Given the description of an element on the screen output the (x, y) to click on. 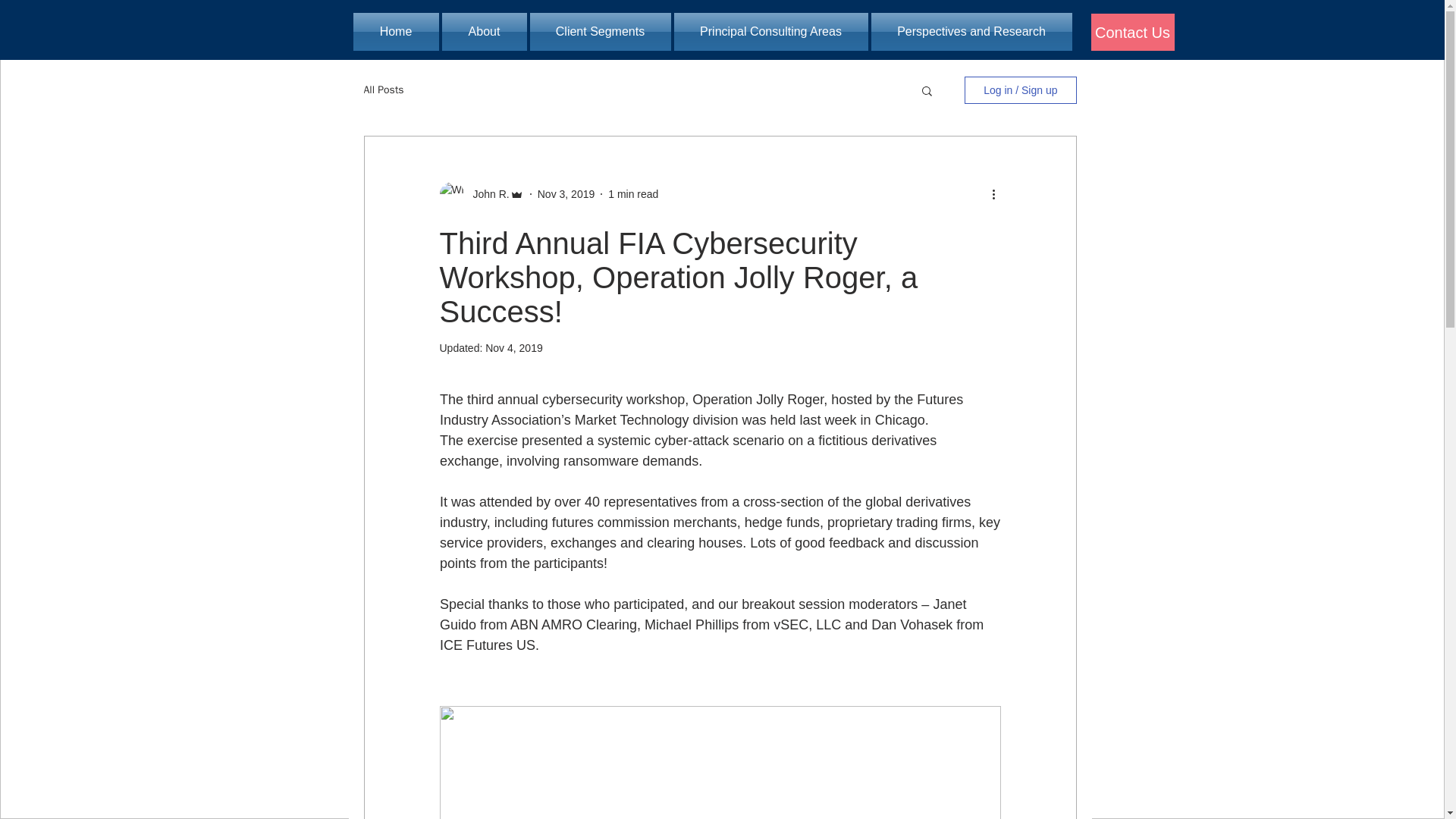
Principal Consulting Areas (770, 31)
Nov 3, 2019 (566, 193)
Perspectives and Research (970, 31)
Client Segments (599, 31)
About (483, 31)
Nov 4, 2019 (513, 347)
1 min read (633, 193)
John R. (486, 194)
Home (397, 31)
